Given the description of an element on the screen output the (x, y) to click on. 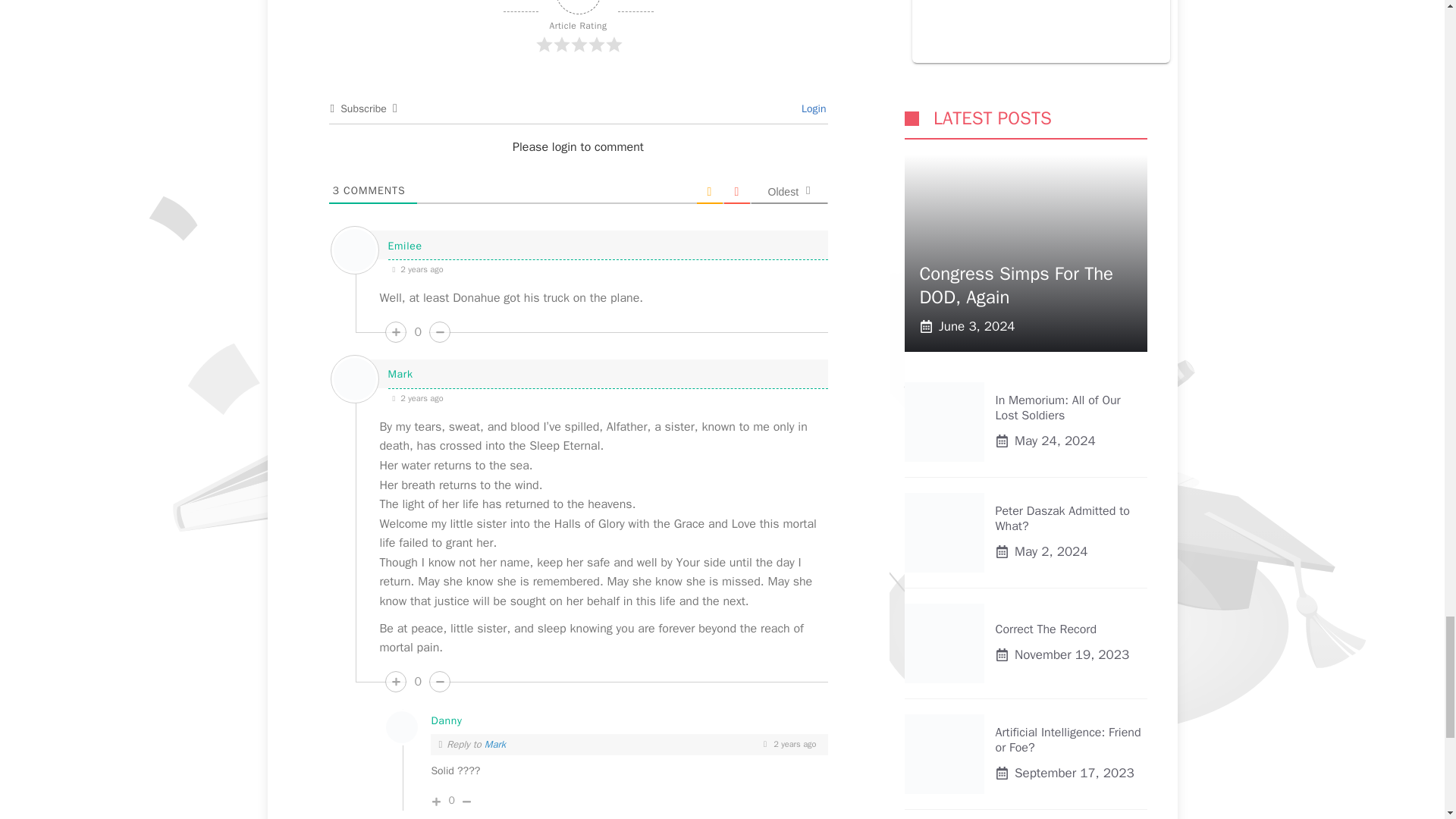
0 (417, 332)
Login (811, 108)
September 30, 2021 1:32 am (607, 268)
